Given the description of an element on the screen output the (x, y) to click on. 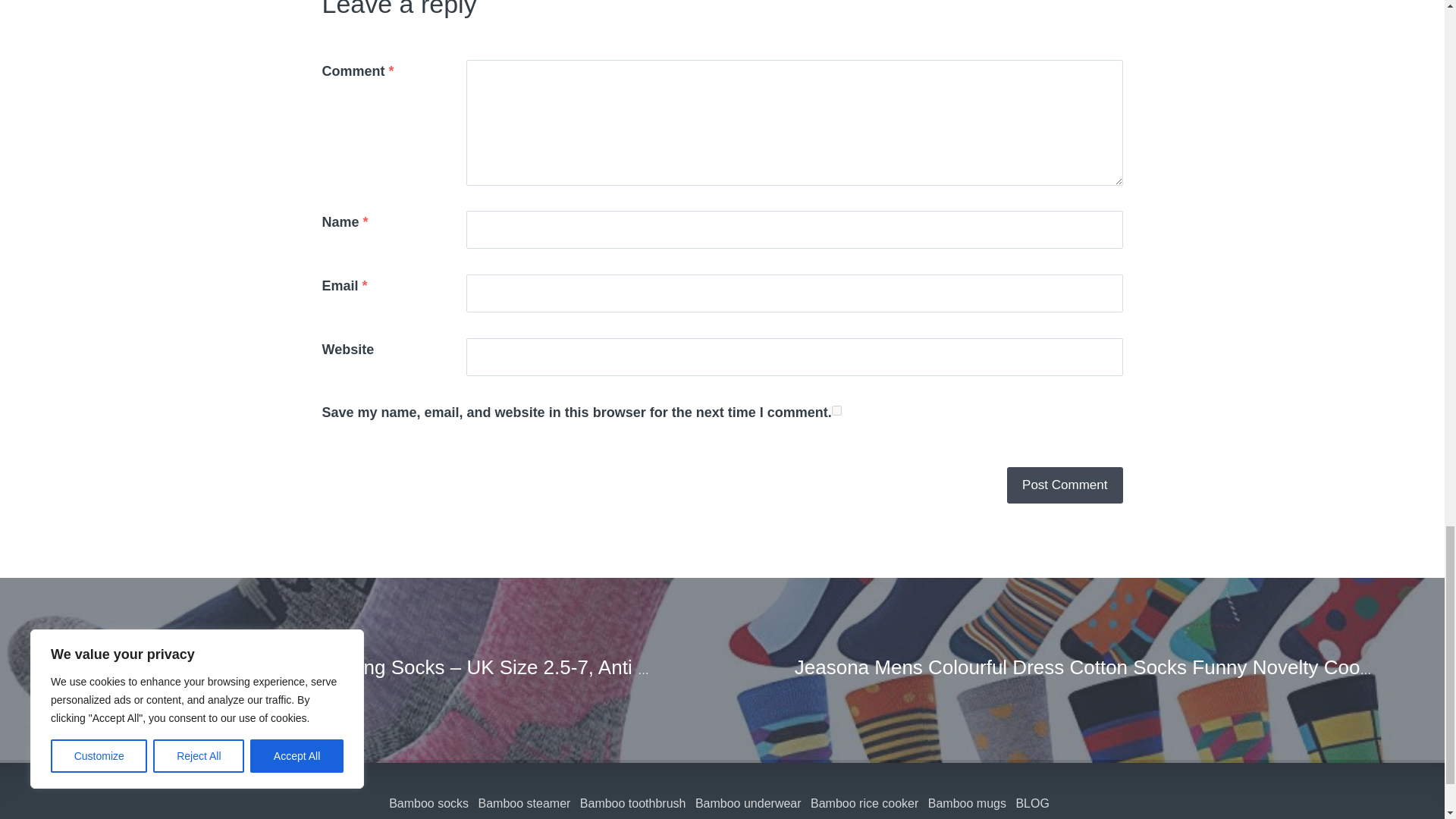
Post Comment (1064, 484)
yes (836, 410)
